Given the description of an element on the screen output the (x, y) to click on. 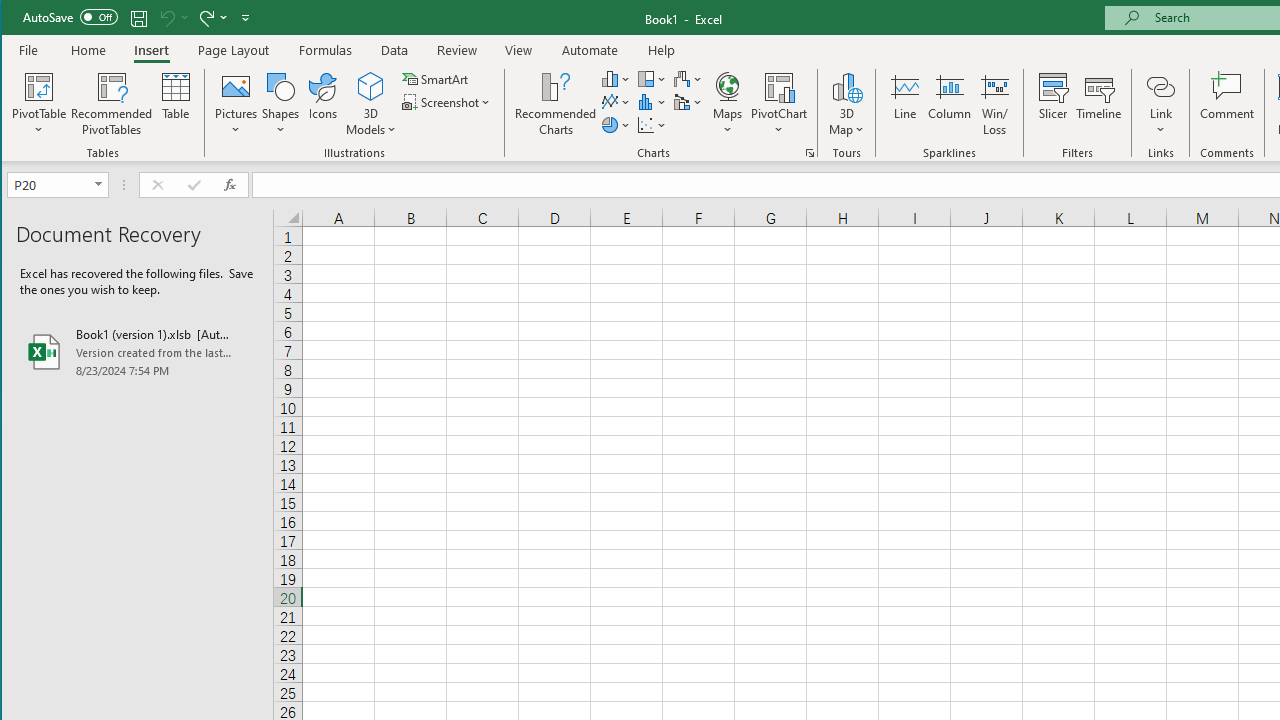
Recommended Charts (809, 152)
Redo (211, 17)
Icons (323, 104)
More Options (1160, 123)
Page Layout (233, 50)
3D Models (371, 104)
Undo (172, 17)
PivotTable (39, 104)
Data (395, 50)
Undo (166, 17)
Insert Hierarchy Chart (652, 78)
Book1 (version 1).xlsb  [AutoRecovered] (137, 352)
Save (139, 17)
